Given the description of an element on the screen output the (x, y) to click on. 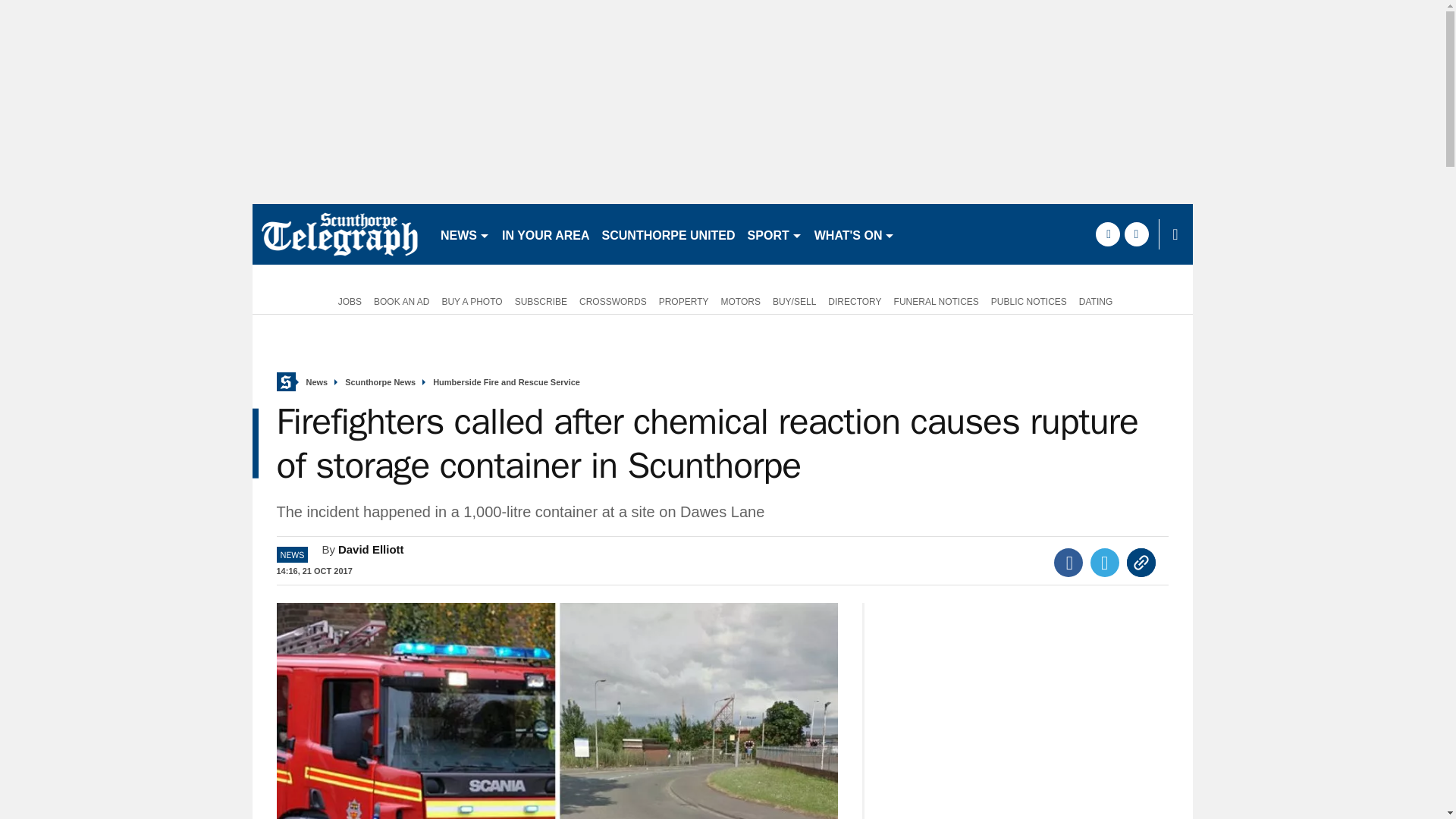
facebook (1106, 233)
Facebook (1068, 562)
NEWS (464, 233)
WHAT'S ON (854, 233)
scunthorpetelegraph (338, 233)
SPORT (774, 233)
SCUNTHORPE UNITED (668, 233)
Twitter (1104, 562)
twitter (1136, 233)
JOBS (347, 300)
IN YOUR AREA (545, 233)
